Given the description of an element on the screen output the (x, y) to click on. 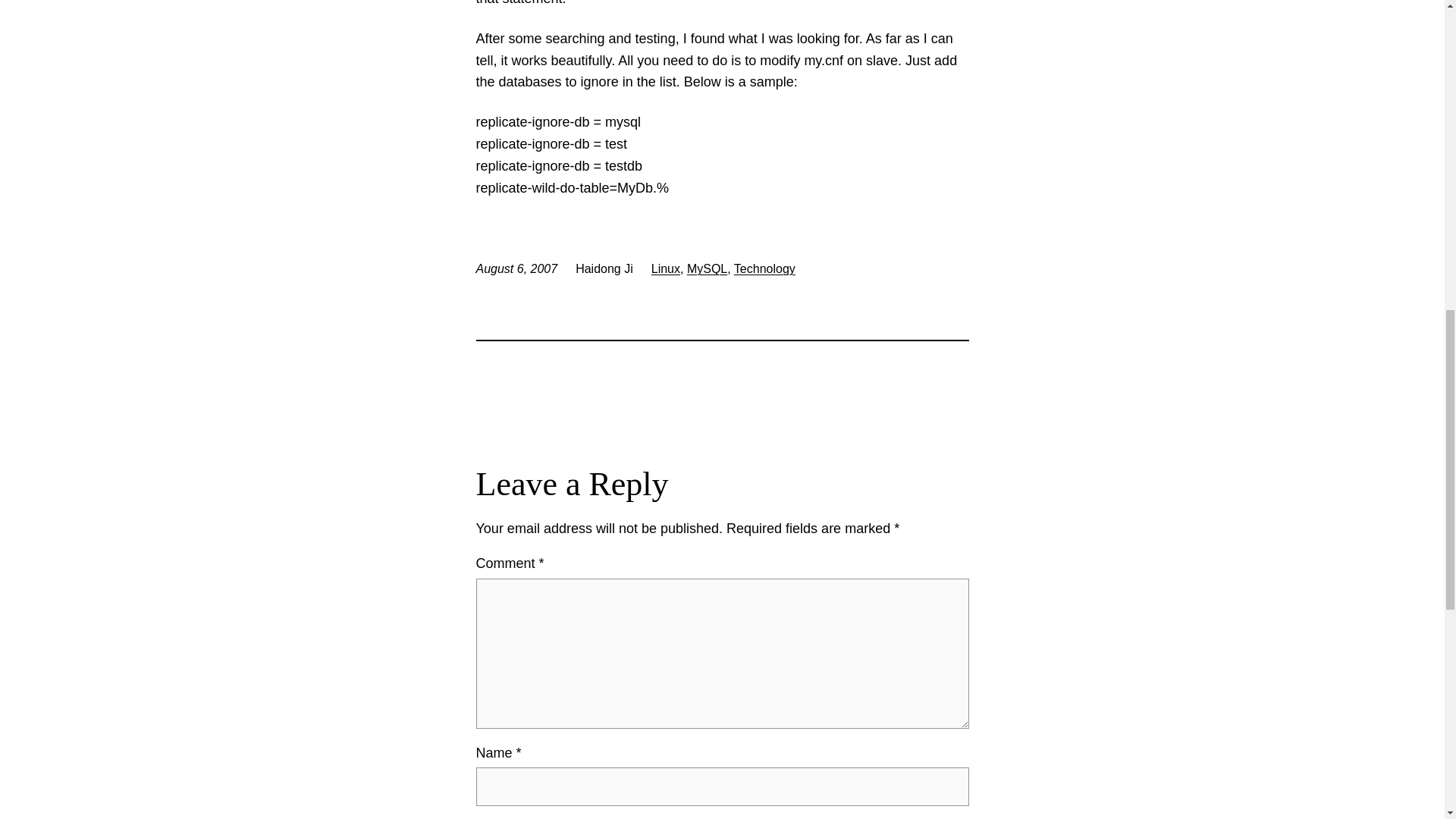
MySQL (706, 268)
Technology (763, 268)
Linux (664, 268)
